Given the description of an element on the screen output the (x, y) to click on. 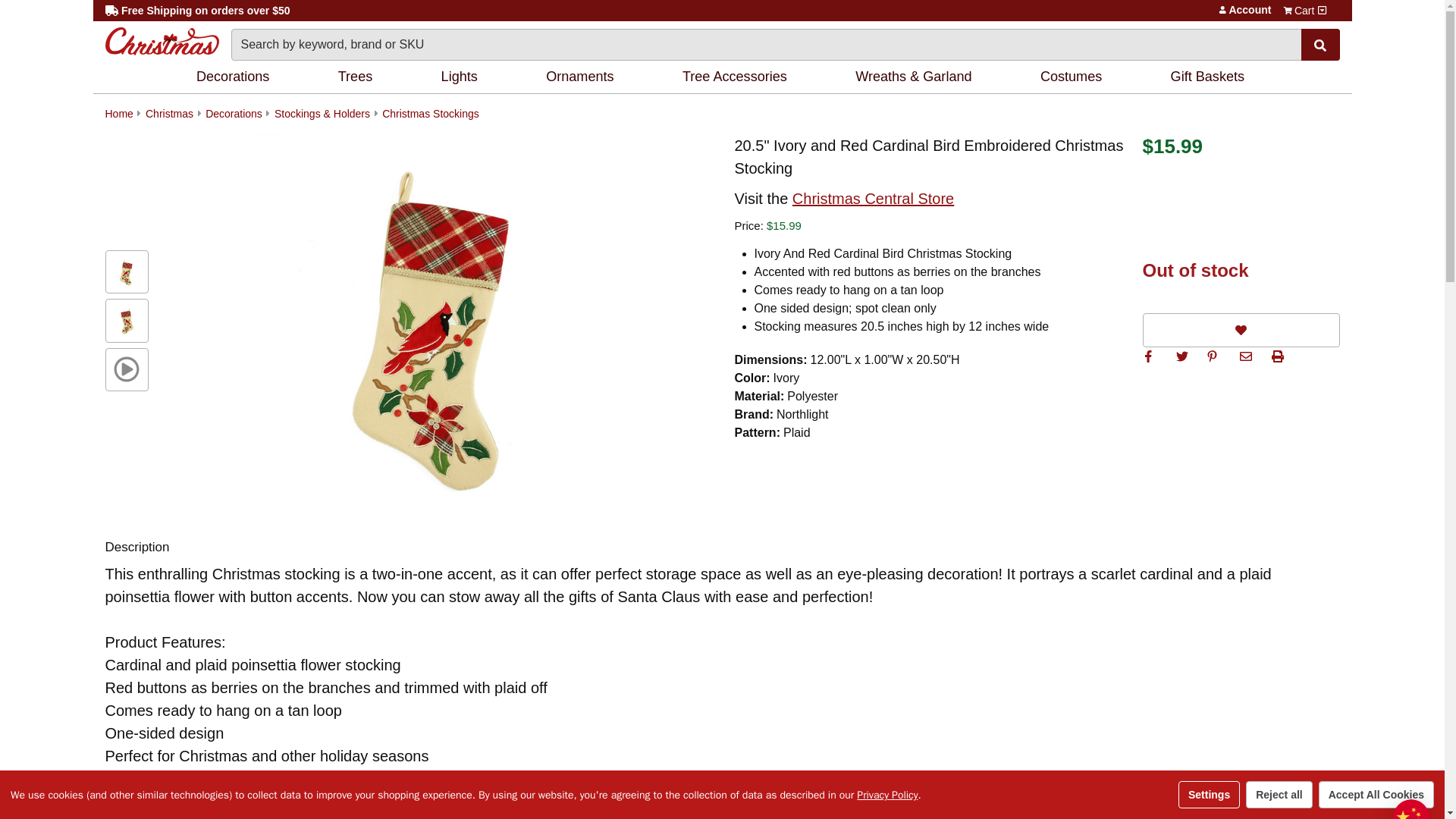
Account (1222, 9)
Account (1222, 9)
Decorations (234, 76)
